Given the description of an element on the screen output the (x, y) to click on. 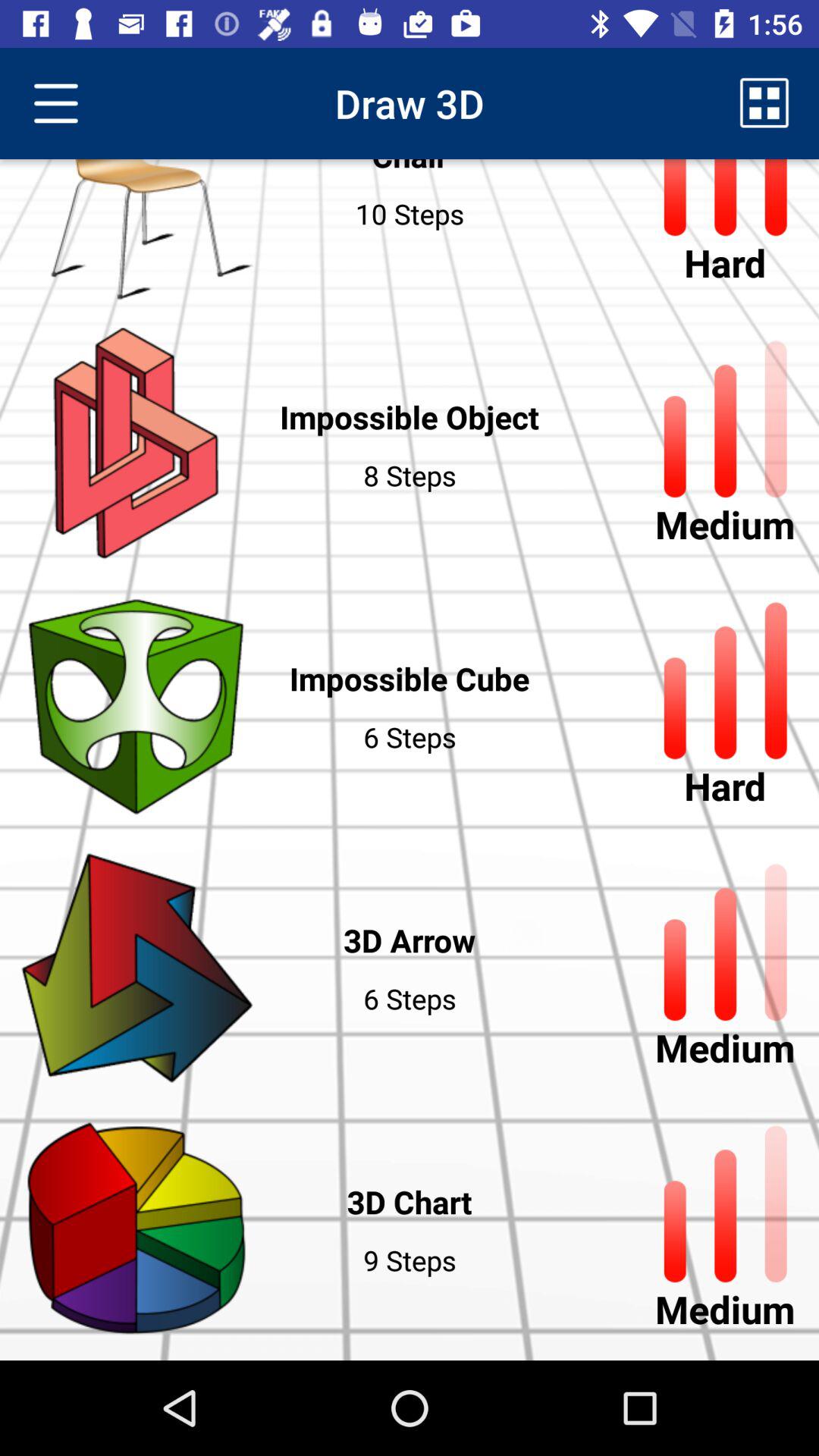
press the item next to chair (764, 103)
